Given the description of an element on the screen output the (x, y) to click on. 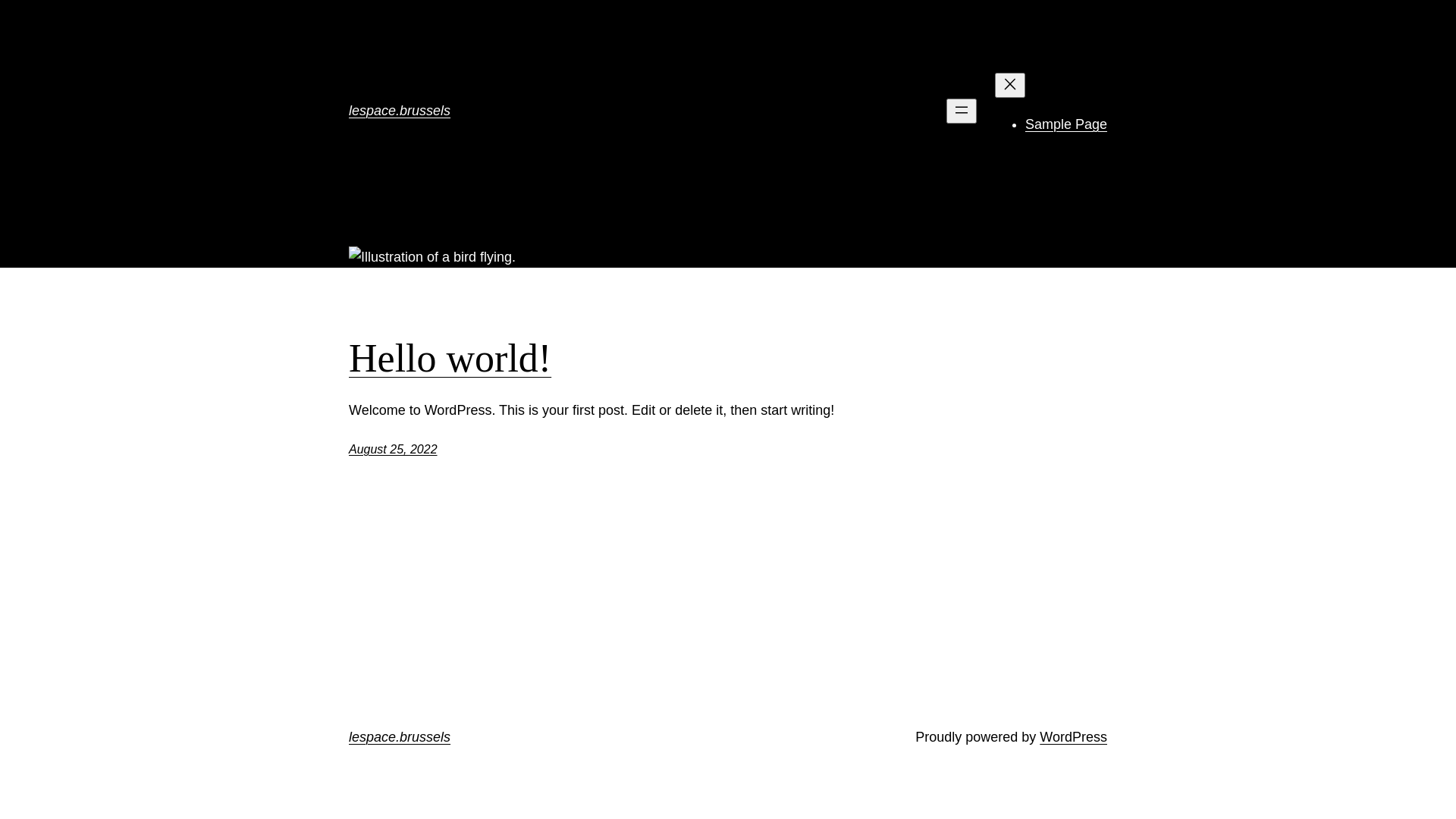
Hello world! Element type: text (449, 358)
lespace.brussels Element type: text (399, 736)
WordPress Element type: text (1073, 736)
lespace.brussels Element type: text (399, 110)
Sample Page Element type: text (1066, 123)
August 25, 2022 Element type: text (392, 448)
